Given the description of an element on the screen output the (x, y) to click on. 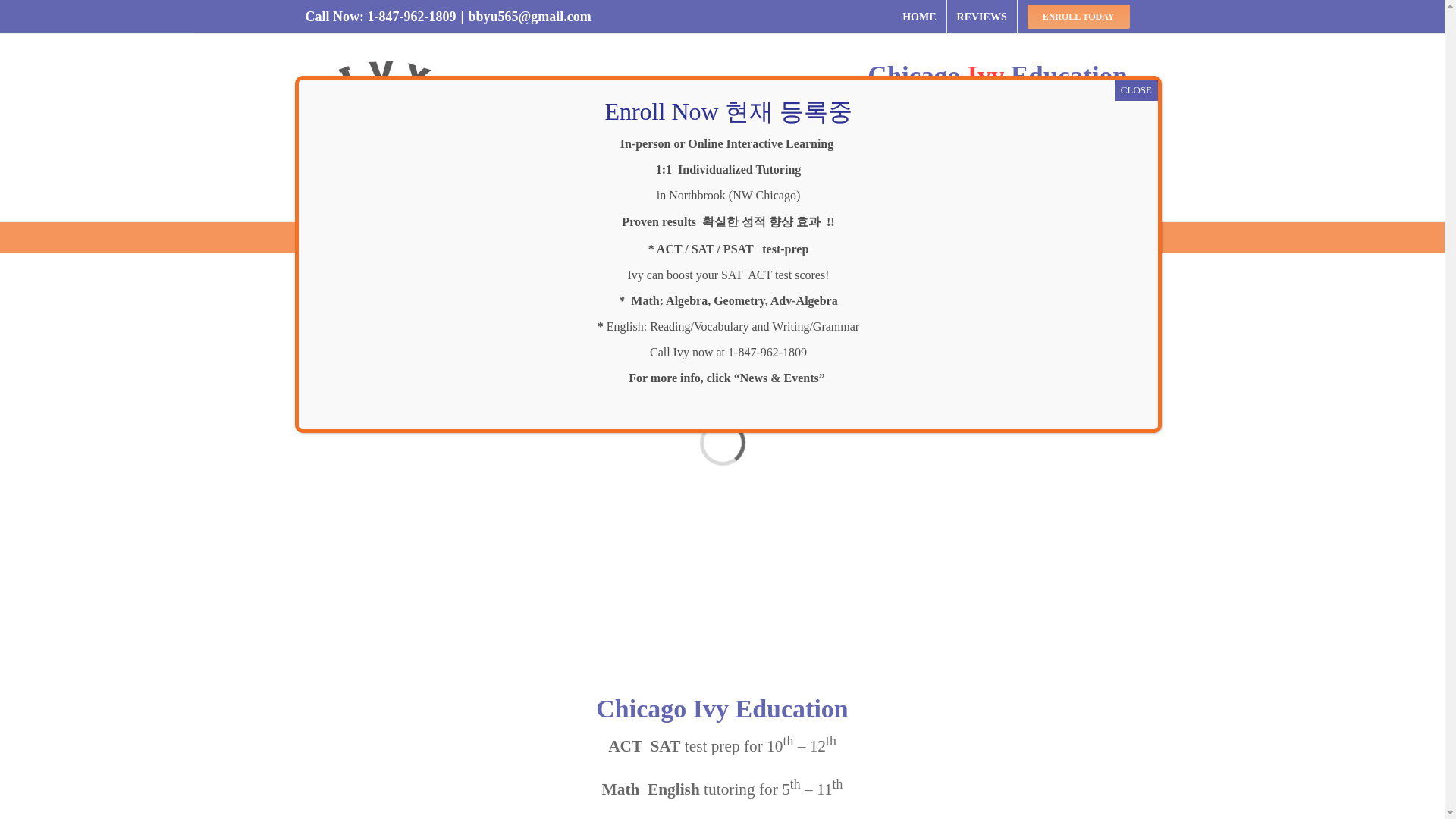
What We Teach (469, 236)
Contact Ivy (842, 236)
How We Teach (573, 236)
About Ivy (376, 236)
ENROLL TODAY (1078, 16)
HOME (918, 16)
REVIEWS (981, 16)
1-847-962-1809 (410, 16)
